Given the description of an element on the screen output the (x, y) to click on. 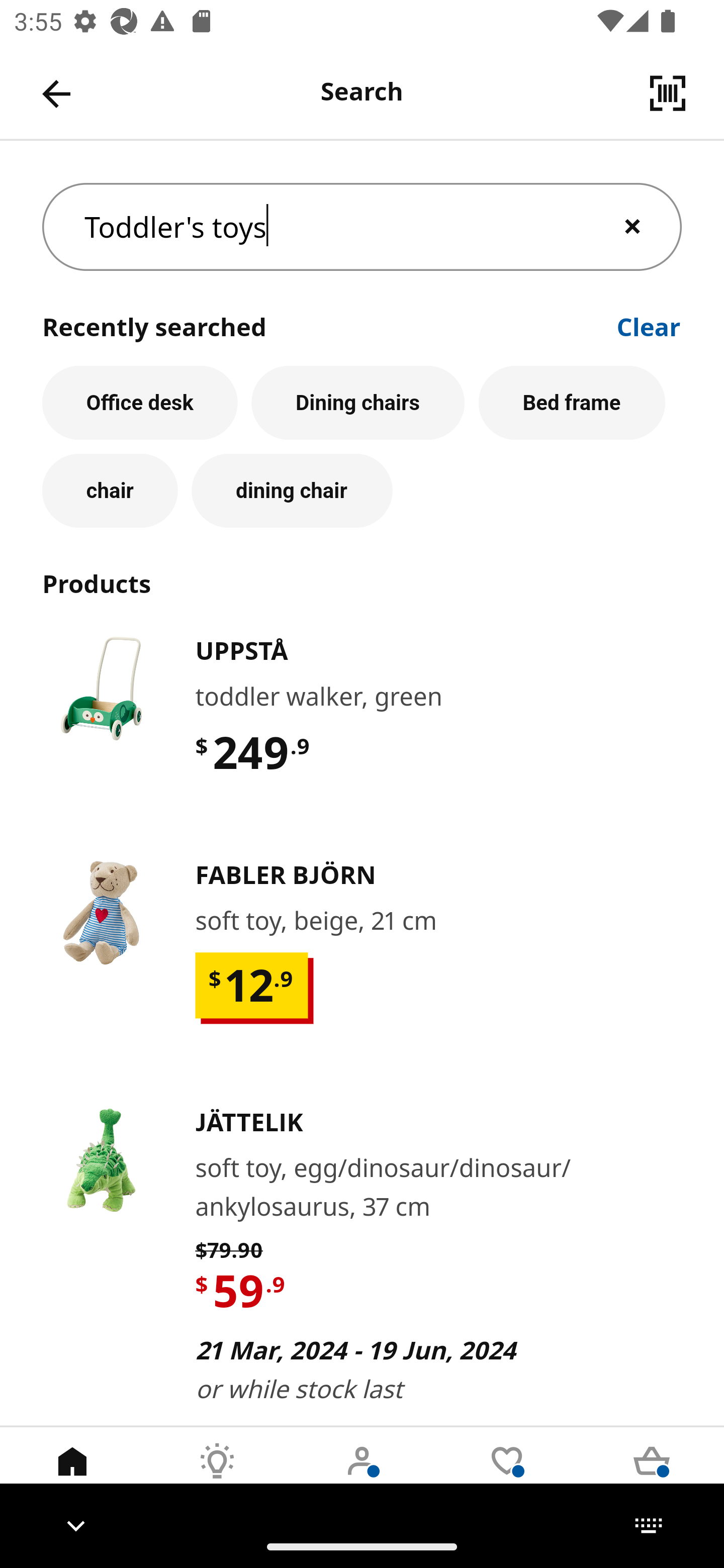
Toddler's toys (361, 227)
Clear (649, 324)
Office desk (139, 402)
Dining chairs (357, 402)
Bed frame (571, 402)
chair (109, 490)
dining chair (291, 490)
​U​P​P​S​T​Å​
toddler walker, green
$
249
.9 (361, 731)
Home
Tab 1 of 5 (72, 1476)
Inspirations
Tab 2 of 5 (216, 1476)
User
Tab 3 of 5 (361, 1476)
Wishlist
Tab 4 of 5 (506, 1476)
Cart
Tab 5 of 5 (651, 1476)
